Given the description of an element on the screen output the (x, y) to click on. 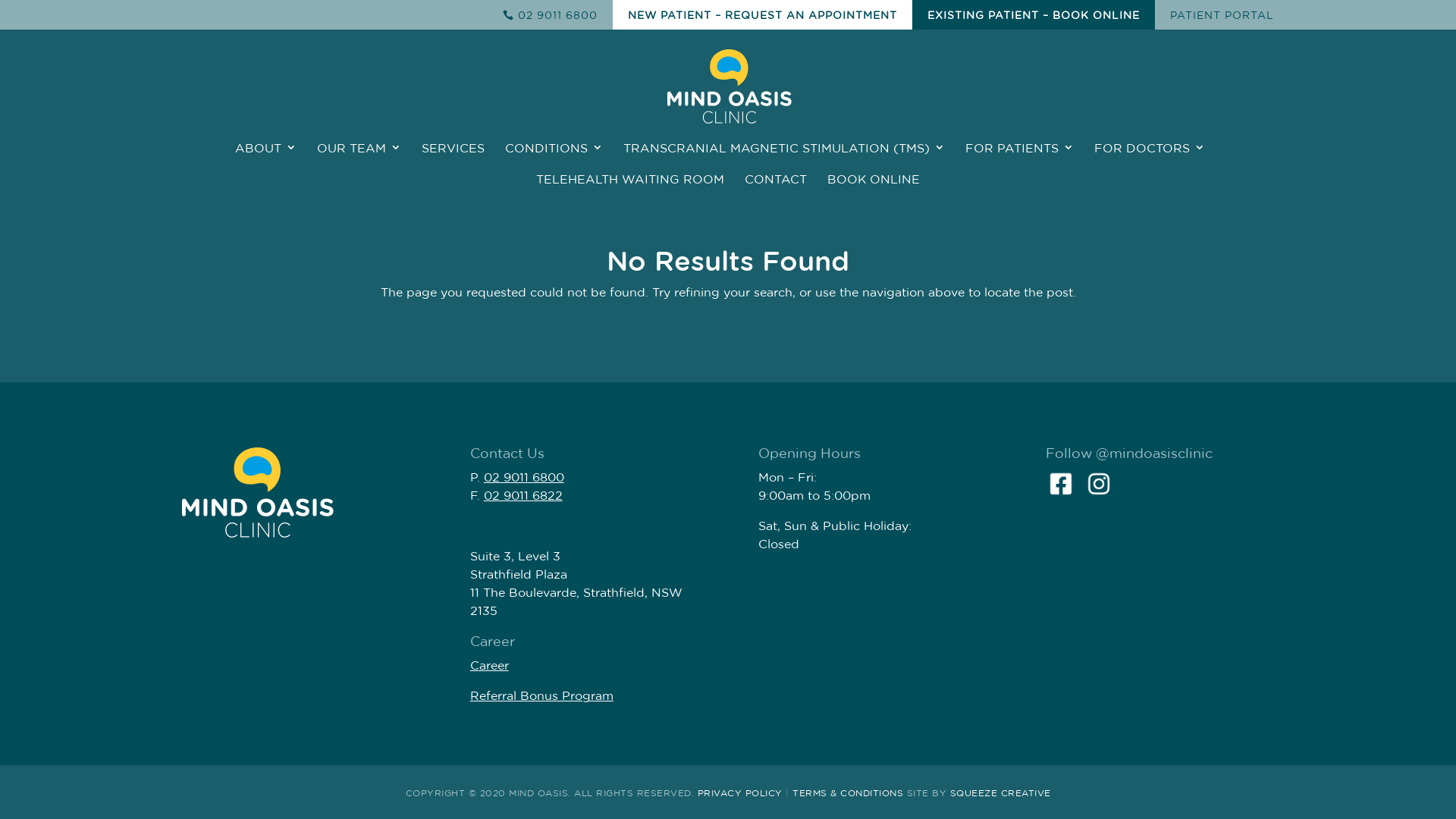
TELEHEALTH WAITING ROOM Element type: text (630, 189)
PATIENT PORTAL Element type: text (1222, 19)
FOR PATIENTS Element type: text (1018, 157)
OUR TEAM Element type: text (358, 157)
PRIVACY POLICY Element type: text (739, 792)
SERVICES Element type: text (452, 157)
02 9011 6800 Element type: text (523, 477)
CONDITIONS Element type: text (553, 157)
02 9011 6800 Element type: text (549, 19)
Career Element type: text (489, 665)
TRANSCRANIAL MAGNETIC STIMULATION (TMS) Element type: text (783, 157)
02 9011 6822 Element type: text (522, 495)
SQUEEZE CREATIVE Element type: text (999, 792)
BOOK ONLINE Element type: text (873, 189)
ABOUT Element type: text (265, 157)
FOR DOCTORS Element type: text (1148, 157)
Referral Bonus Program Element type: text (541, 696)
CONTACT Element type: text (775, 189)
TERMS & CONDITIONS Element type: text (847, 792)
